Given the description of an element on the screen output the (x, y) to click on. 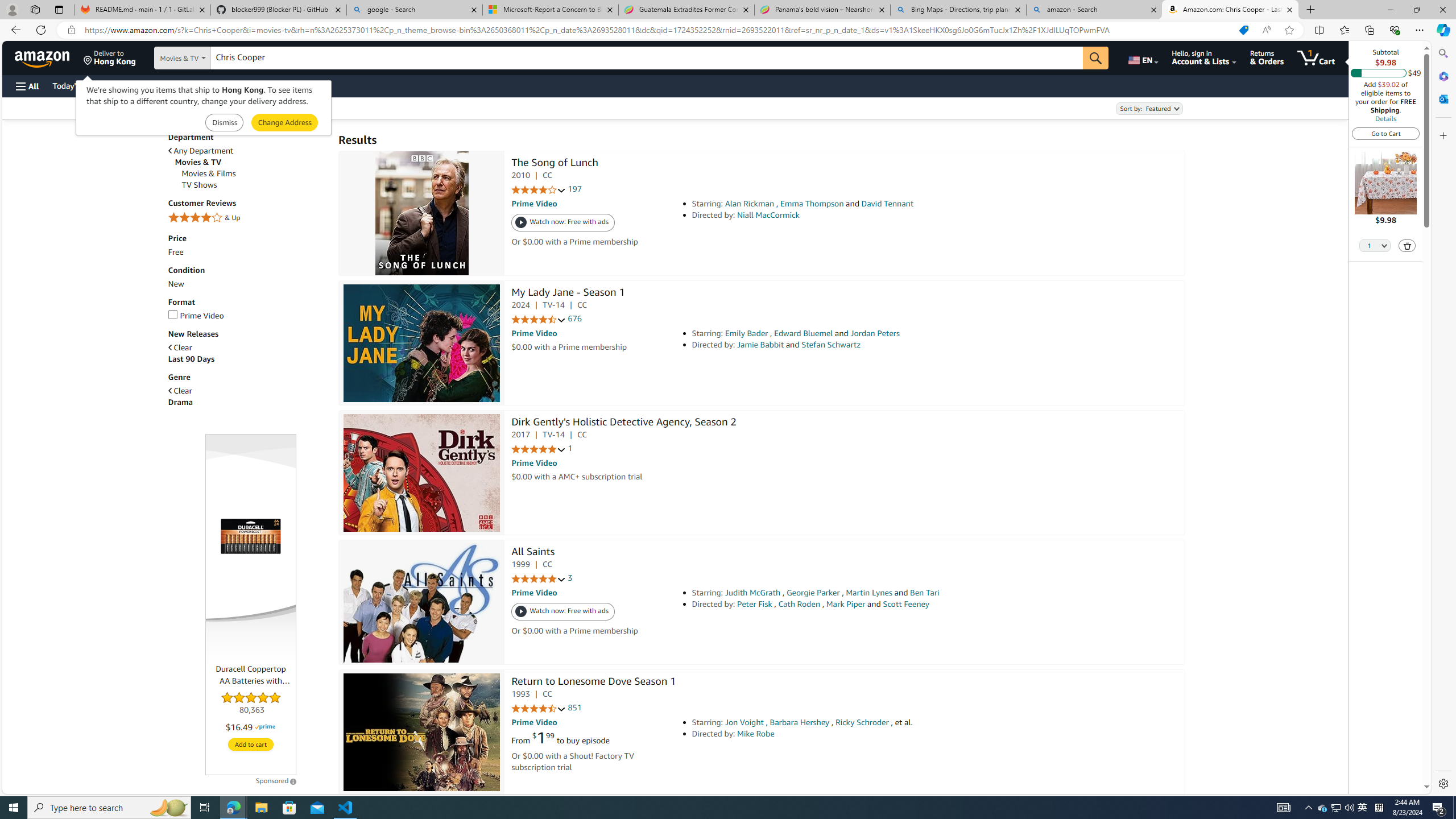
Today's Deals (76, 85)
Dirk Gently's Holistic Detective Agency, Season 2 (623, 422)
All Saints (421, 602)
